Given the description of an element on the screen output the (x, y) to click on. 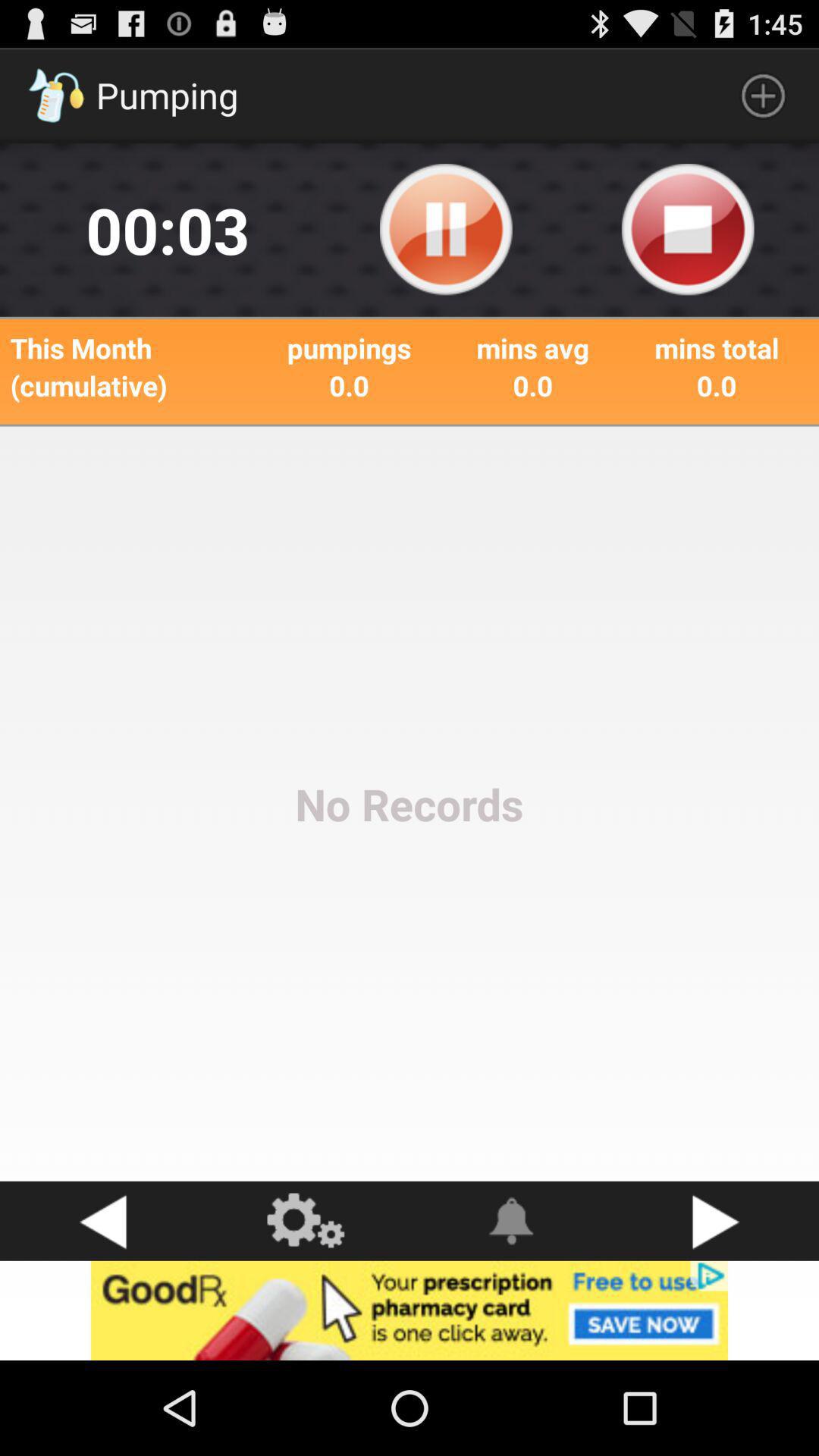
select the plus symbol which is on top right corner (763, 95)
